Given the description of an element on the screen output the (x, y) to click on. 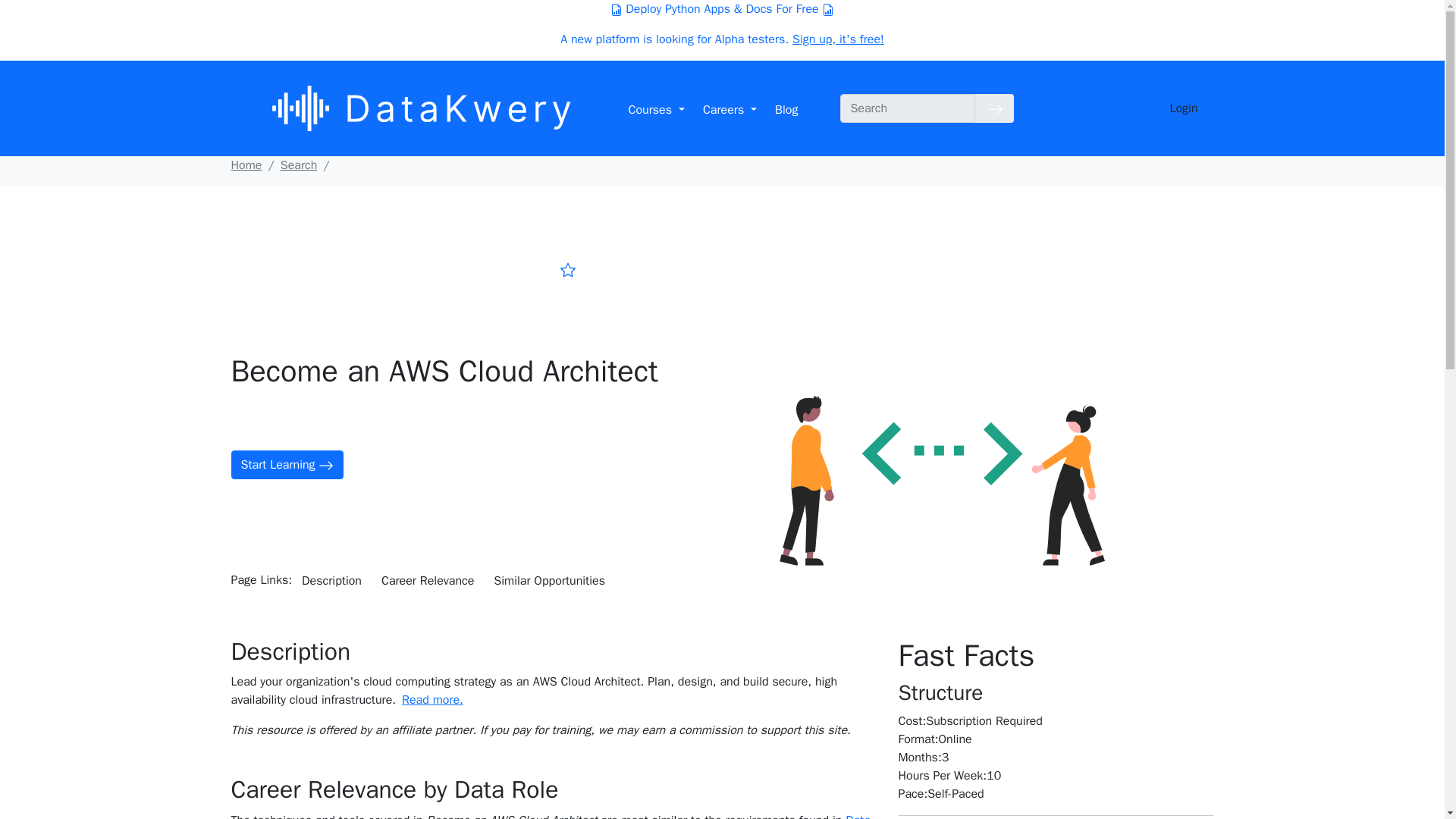
Courses (655, 110)
